Given the description of an element on the screen output the (x, y) to click on. 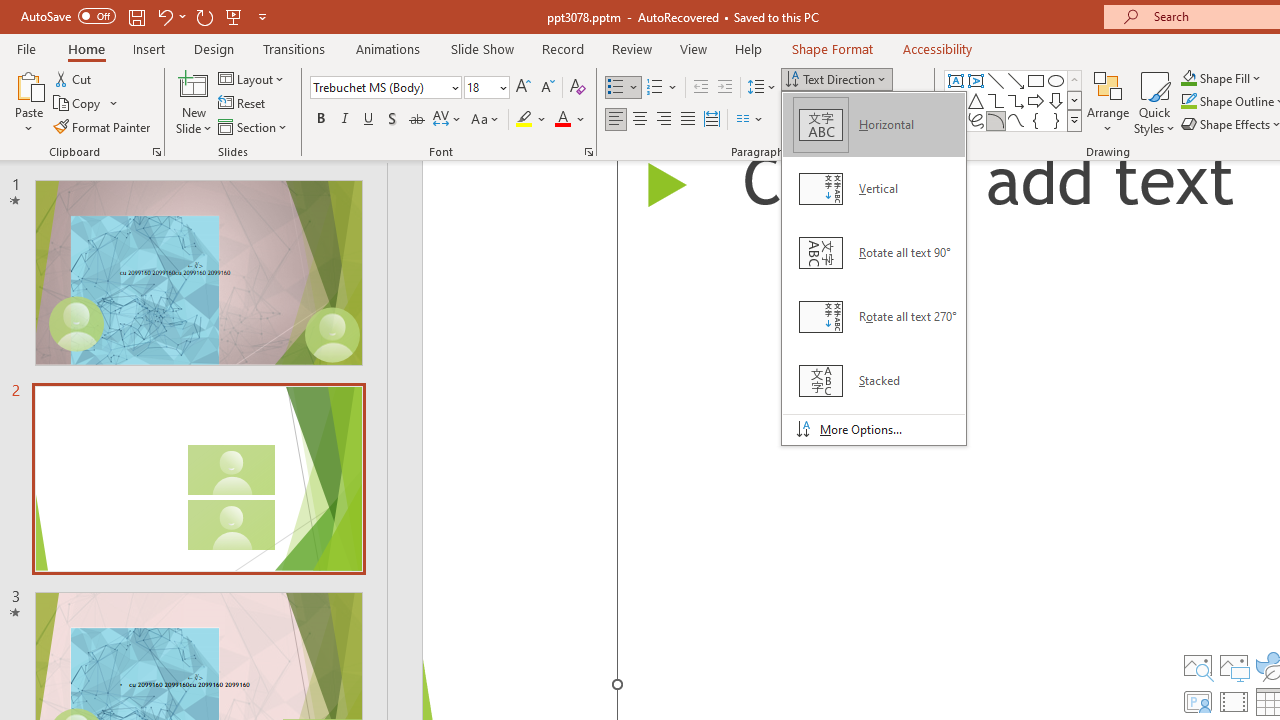
Shape Fill Dark Green, Accent 2 (1188, 78)
Stock Images (1197, 665)
